Given the description of an element on the screen output the (x, y) to click on. 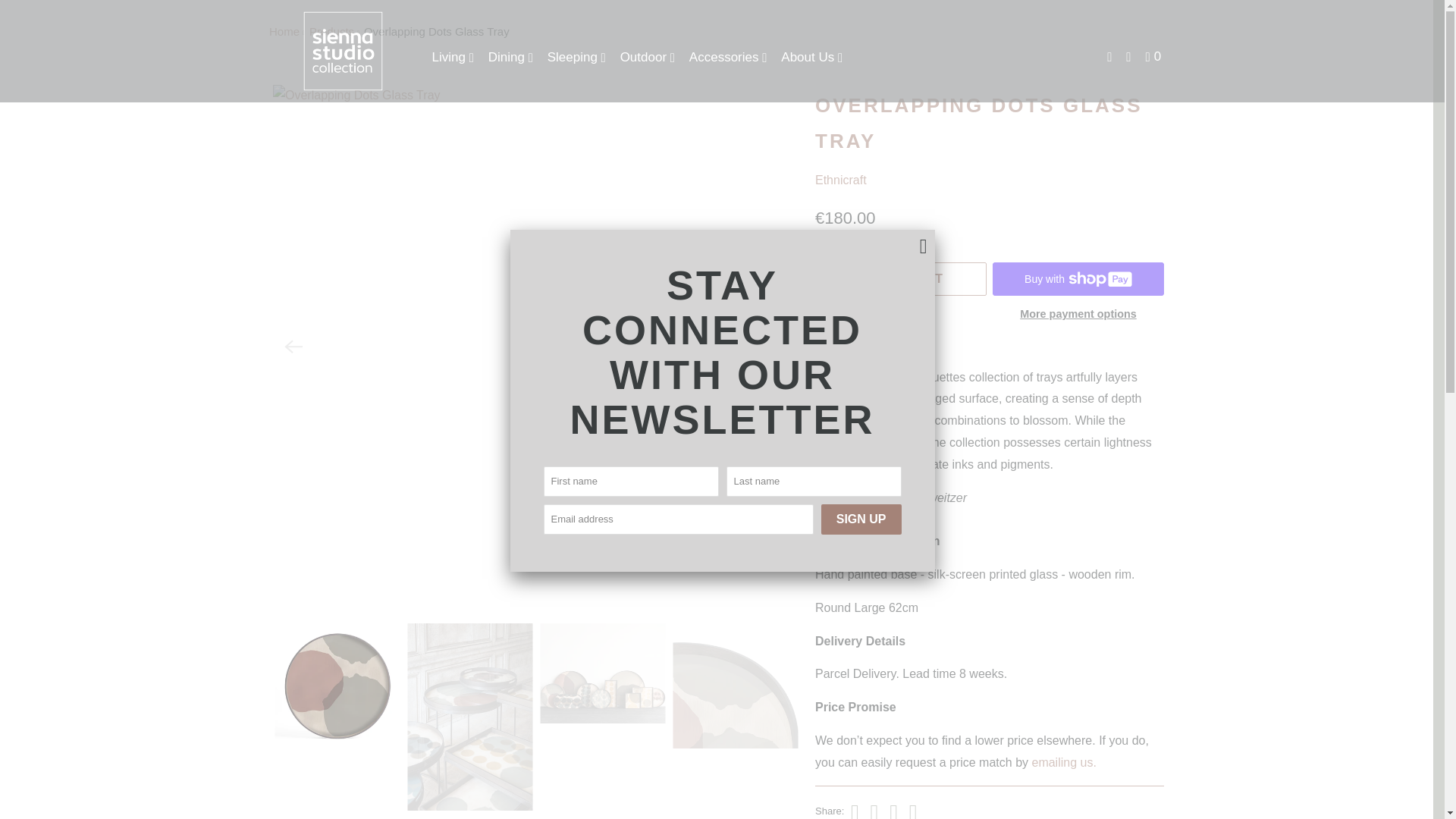
Products (330, 31)
Sienna Studio Collection (284, 31)
Sign Up (861, 518)
Sienna Studio Collection (342, 51)
Ethnicraft (840, 179)
